Given the description of an element on the screen output the (x, y) to click on. 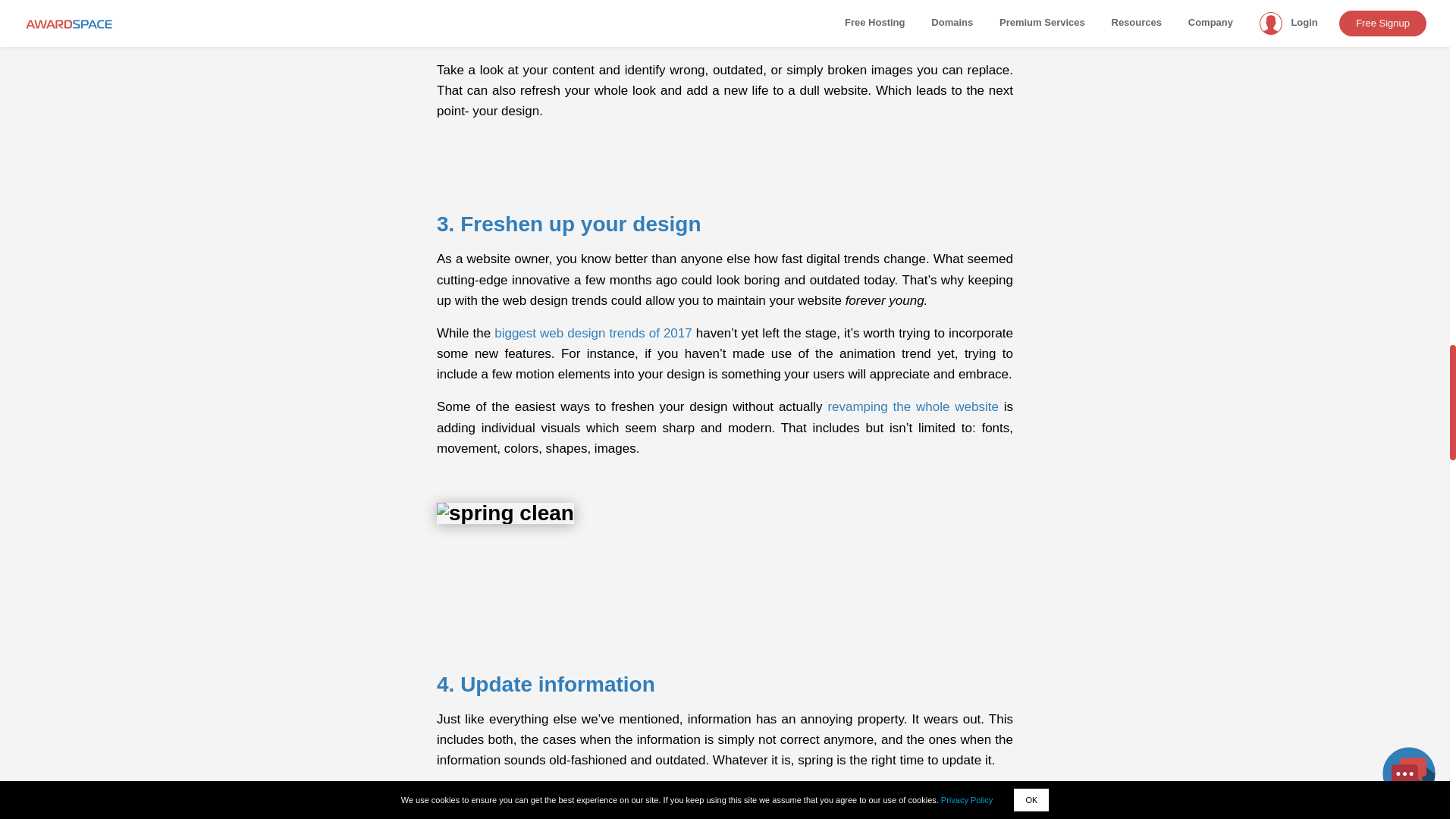
biggest web design trends of 2017 (594, 332)
revamping the whole website (912, 406)
About page (531, 792)
